Given the description of an element on the screen output the (x, y) to click on. 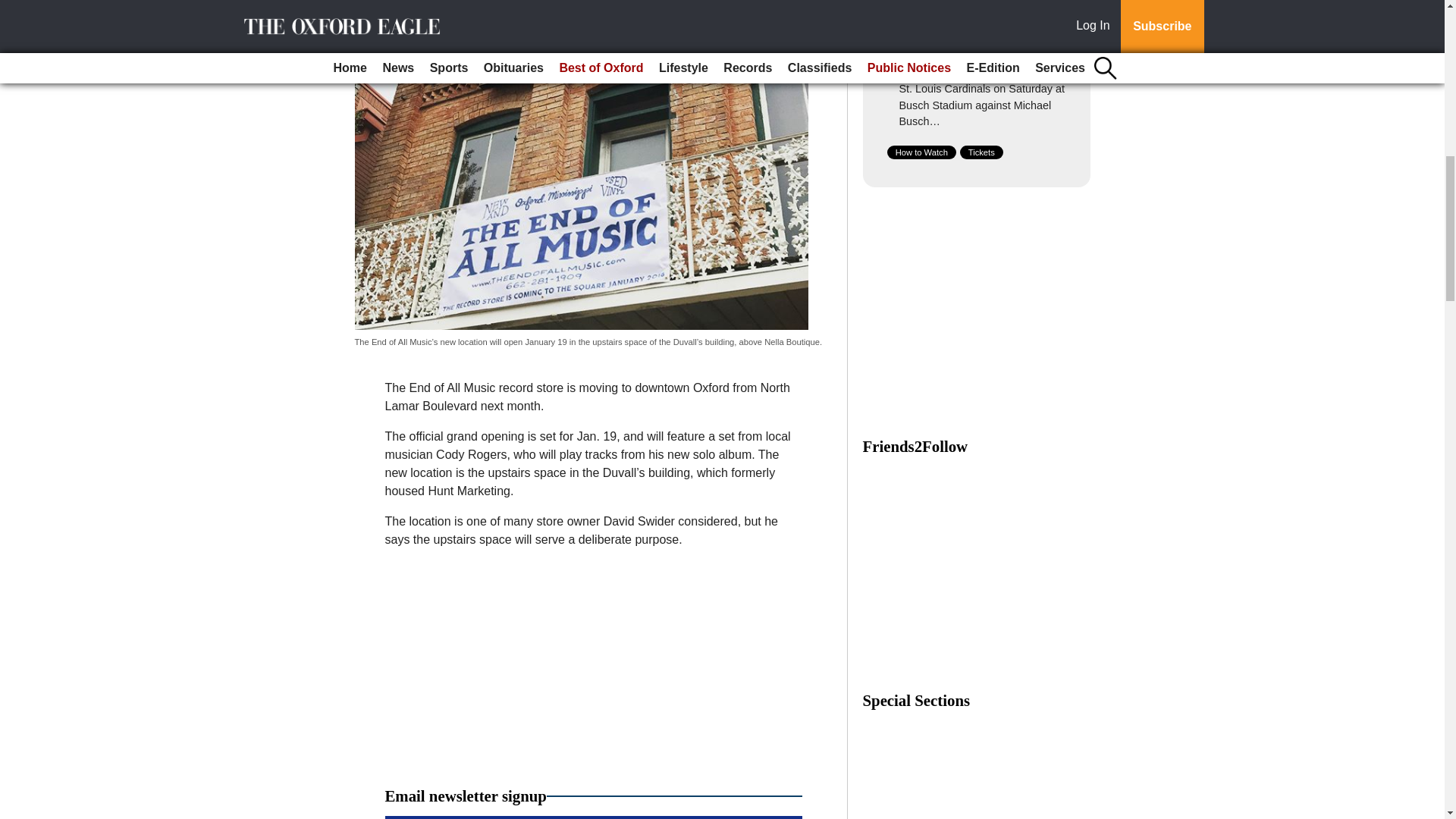
How to Watch (921, 151)
